Given the description of an element on the screen output the (x, y) to click on. 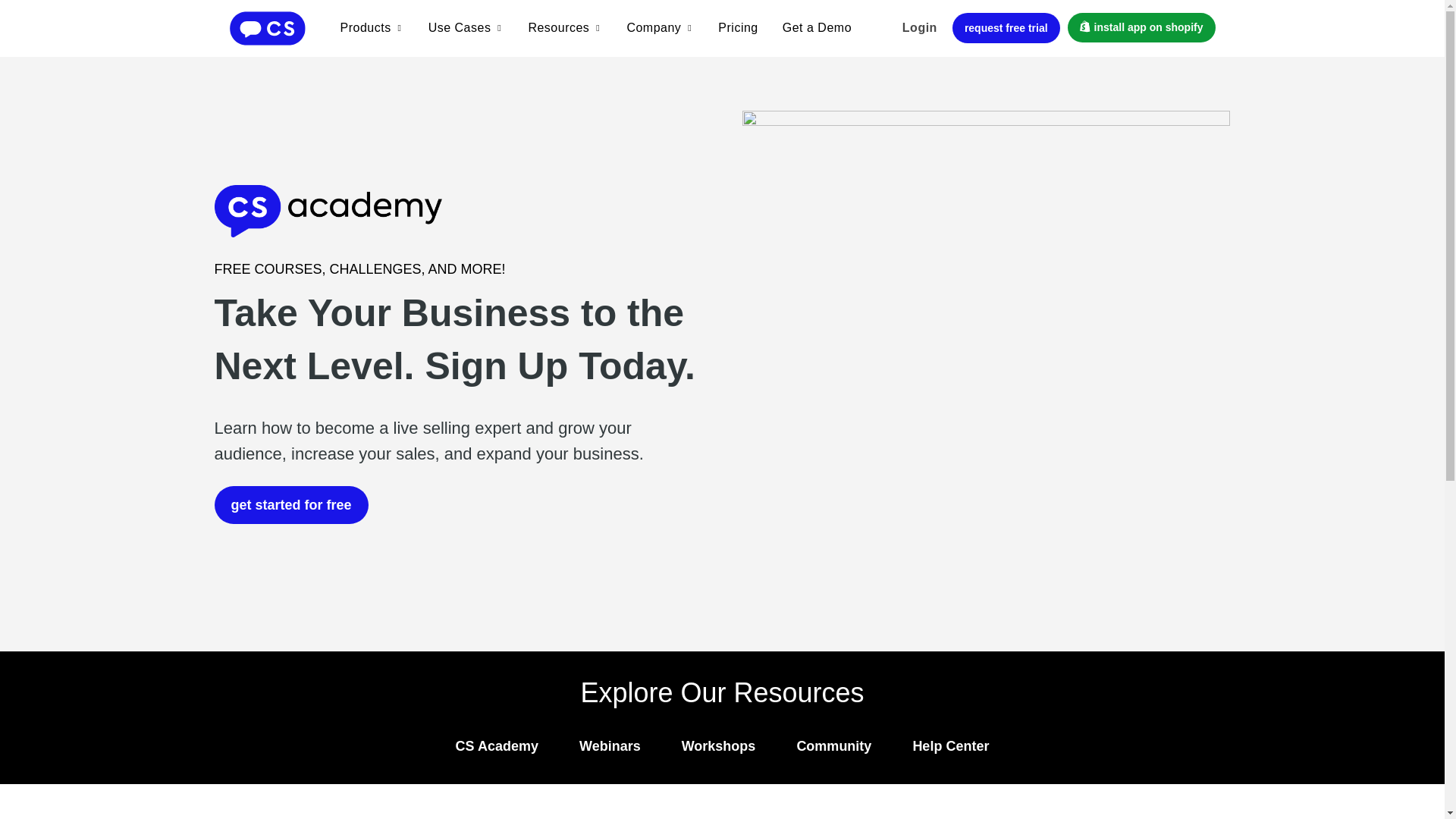
Products (364, 27)
Use Cases (460, 27)
